Given the description of an element on the screen output the (x, y) to click on. 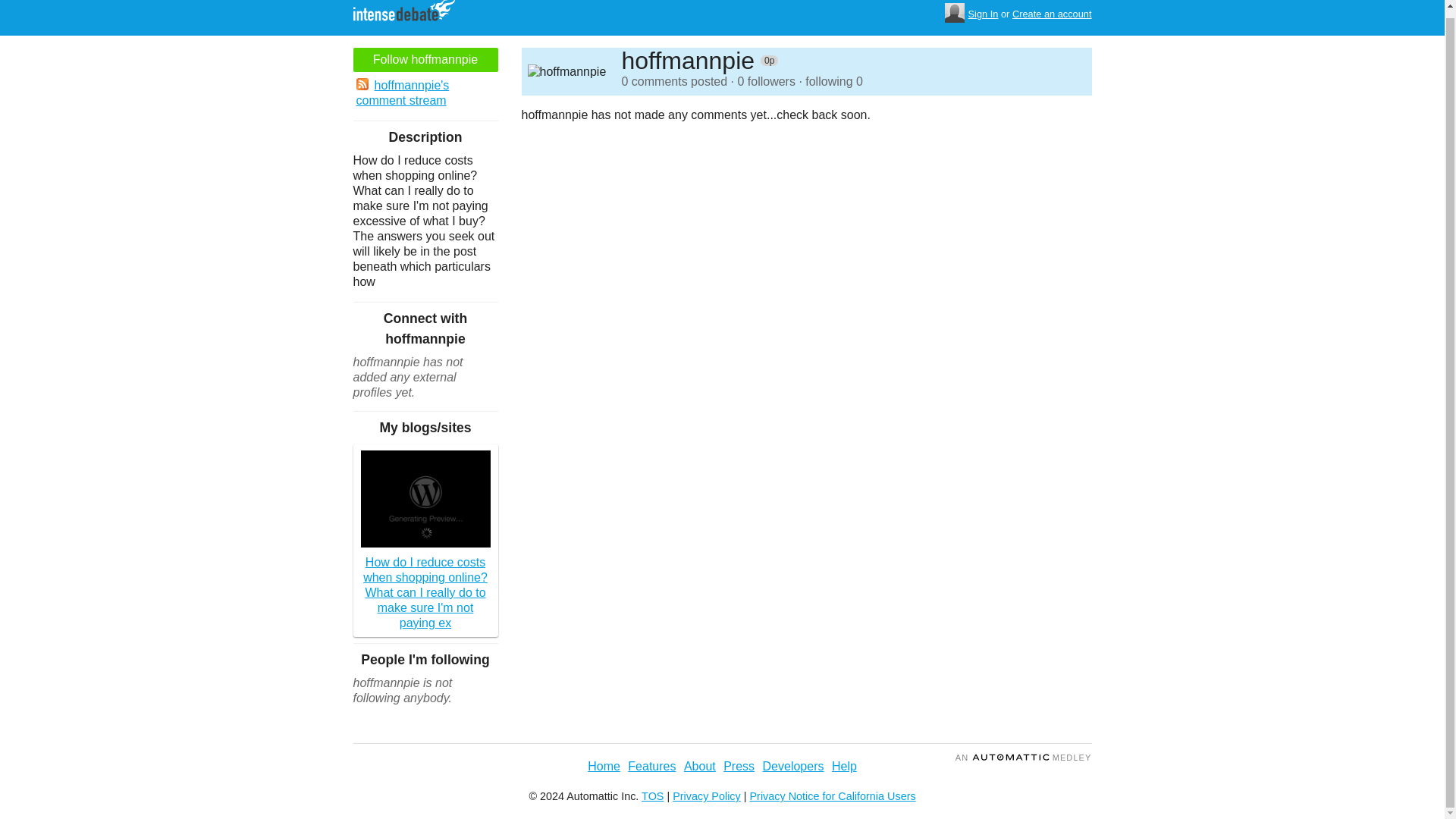
About (700, 766)
IntenseDebate Comment System (410, 14)
Create an account (1051, 14)
Privacy Notice for California Users (832, 796)
Press (738, 766)
Help (844, 766)
Sign In (983, 14)
Privacy Policy (706, 796)
Developers (793, 766)
hoffmannpie's comment stream (425, 93)
AN MEDLEY (1023, 757)
TOS (652, 796)
Features (651, 766)
Follow hoffmannpie (425, 59)
